Given the description of an element on the screen output the (x, y) to click on. 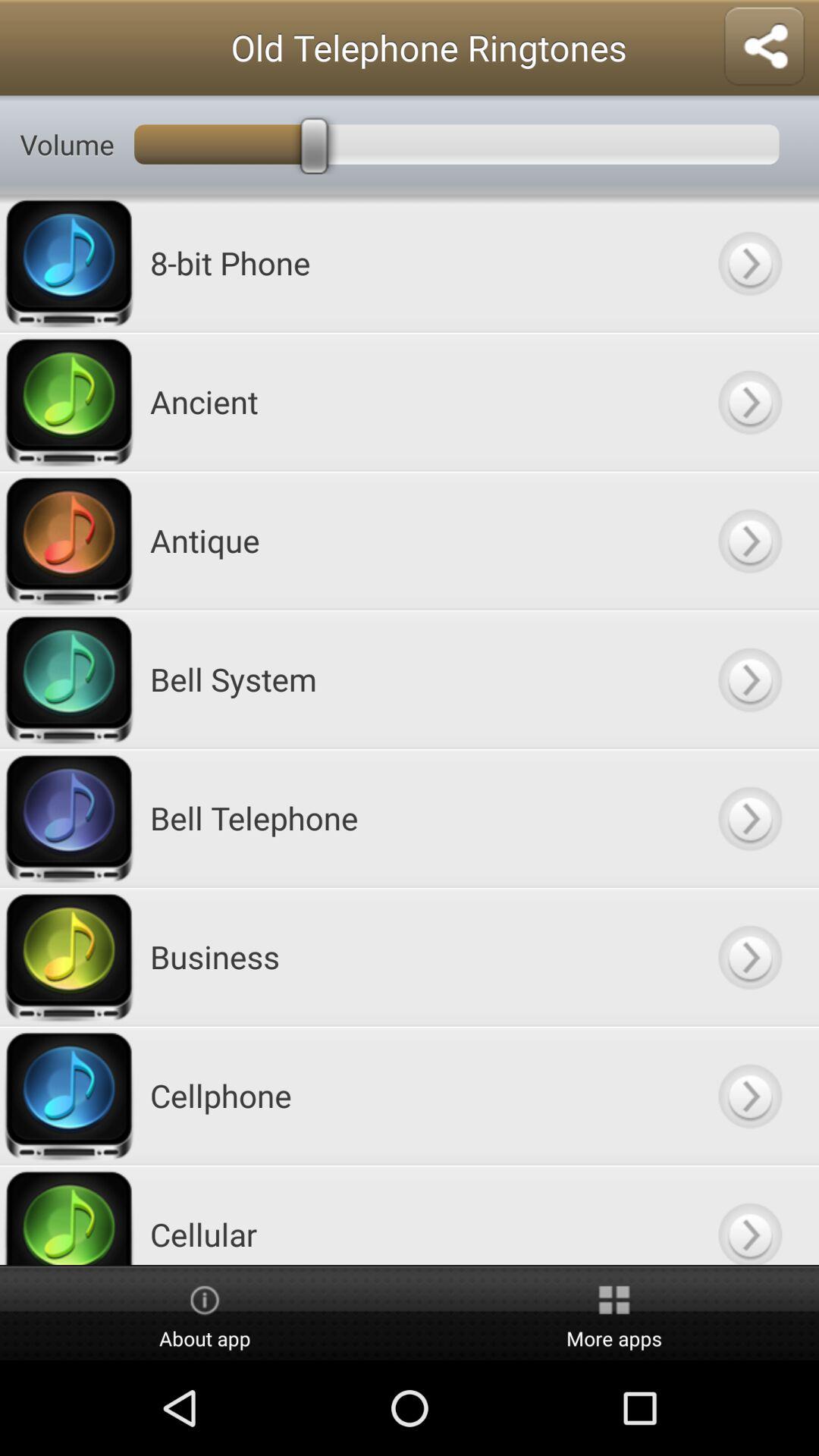
play music (749, 540)
